Given the description of an element on the screen output the (x, y) to click on. 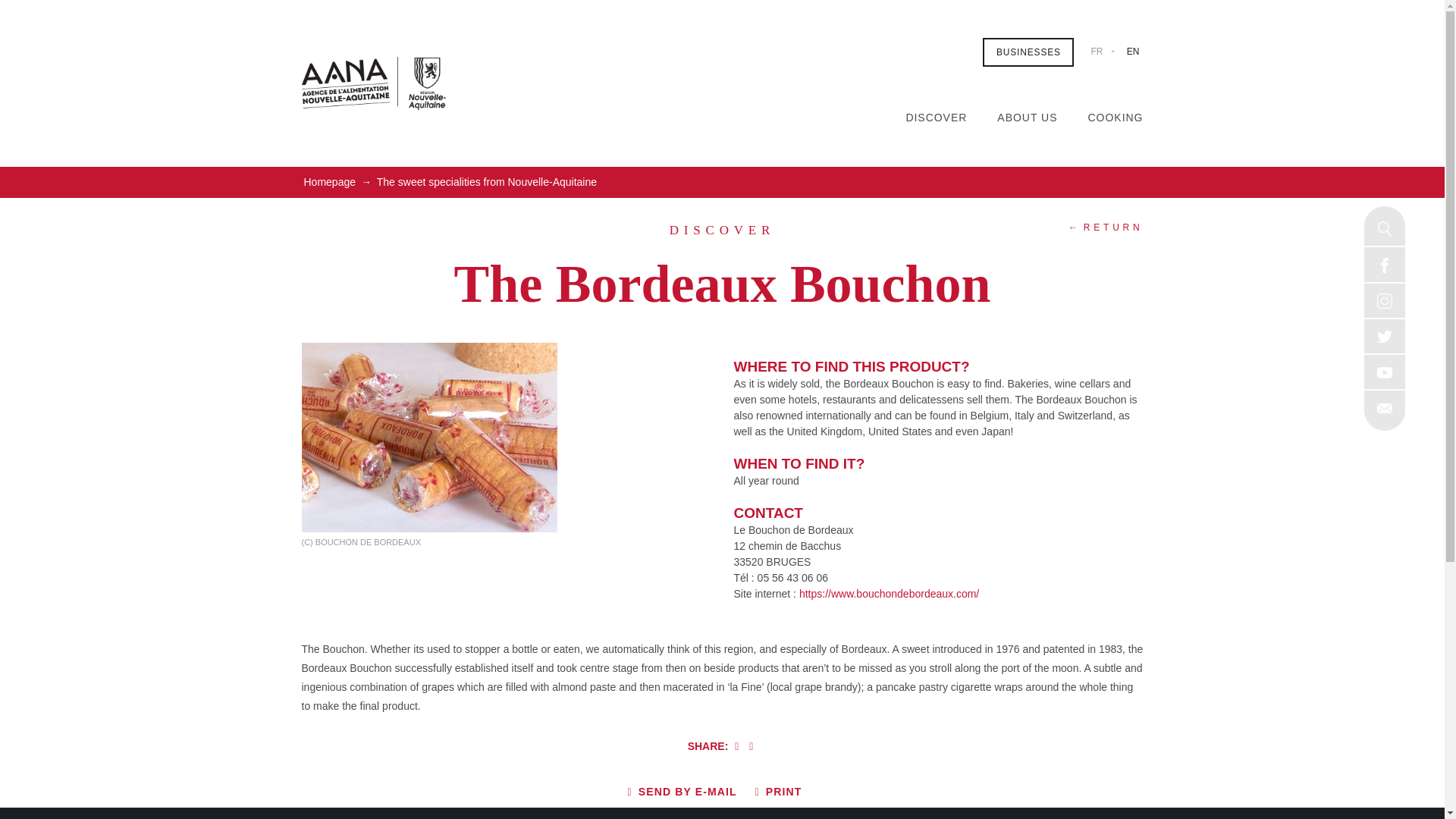
PRINT (778, 791)
The sweet specialities from Nouvelle-Aquitaine (486, 182)
EN (1133, 50)
FR (1096, 50)
SEND BY E-MAIL (681, 791)
Homepage (329, 182)
